Given the description of an element on the screen output the (x, y) to click on. 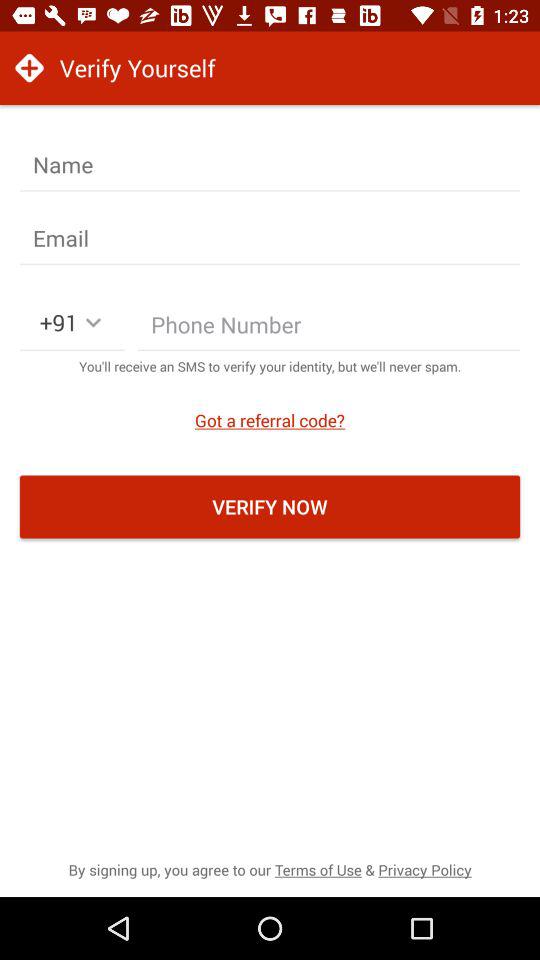
enter phone number (329, 329)
